Given the description of an element on the screen output the (x, y) to click on. 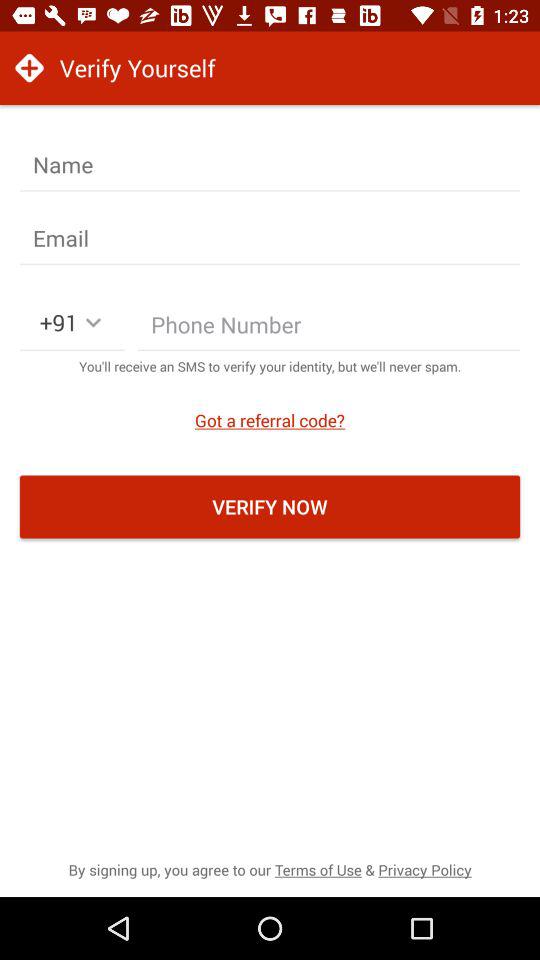
enter phone number (329, 329)
